Given the description of an element on the screen output the (x, y) to click on. 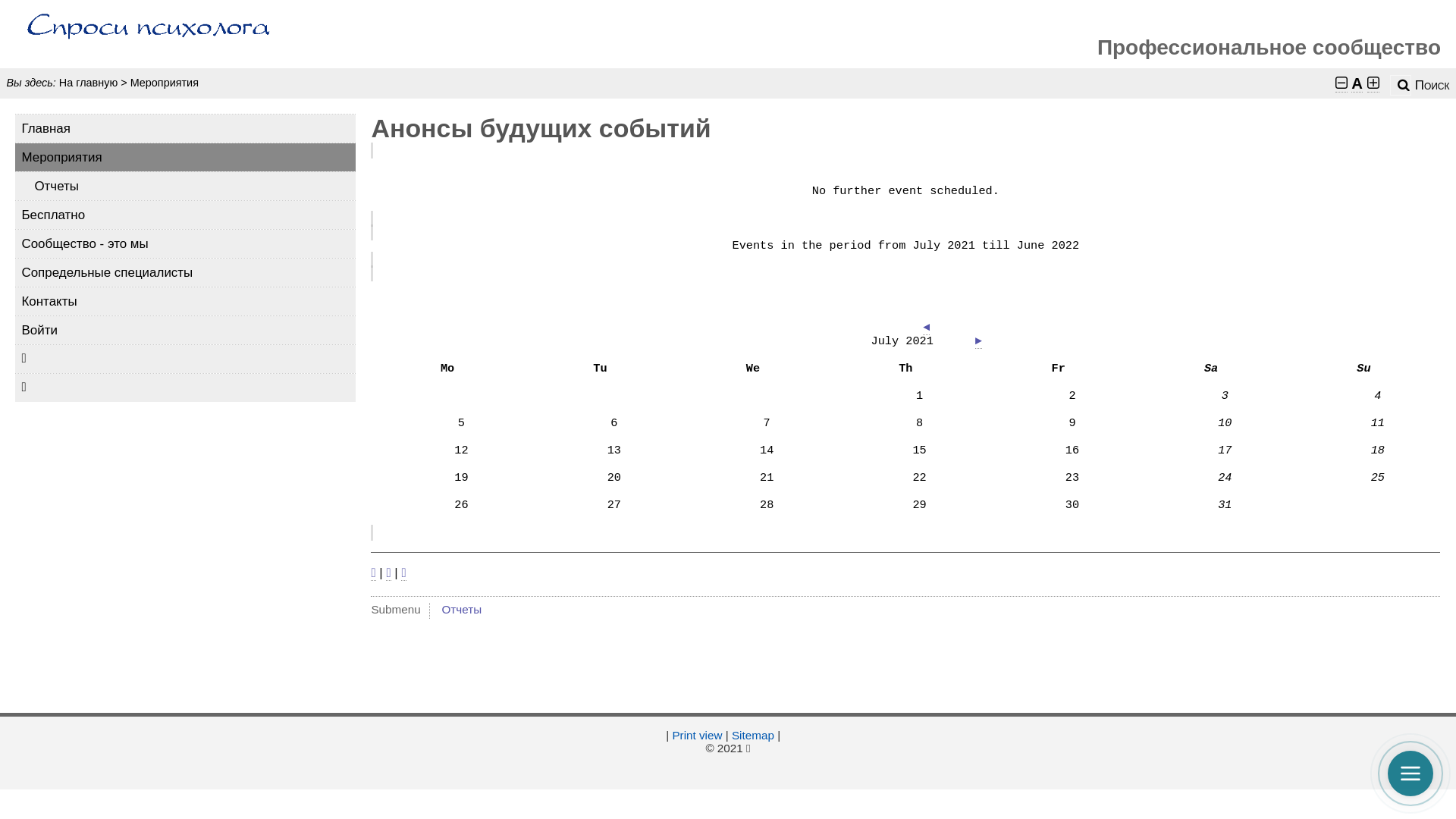
Print view Element type: text (696, 734)
A Element type: text (1356, 83)
   Element type: text (786, 734)
Sitemap Element type: text (752, 734)
  Element type: text (150, 33)
